Given the description of an element on the screen output the (x, y) to click on. 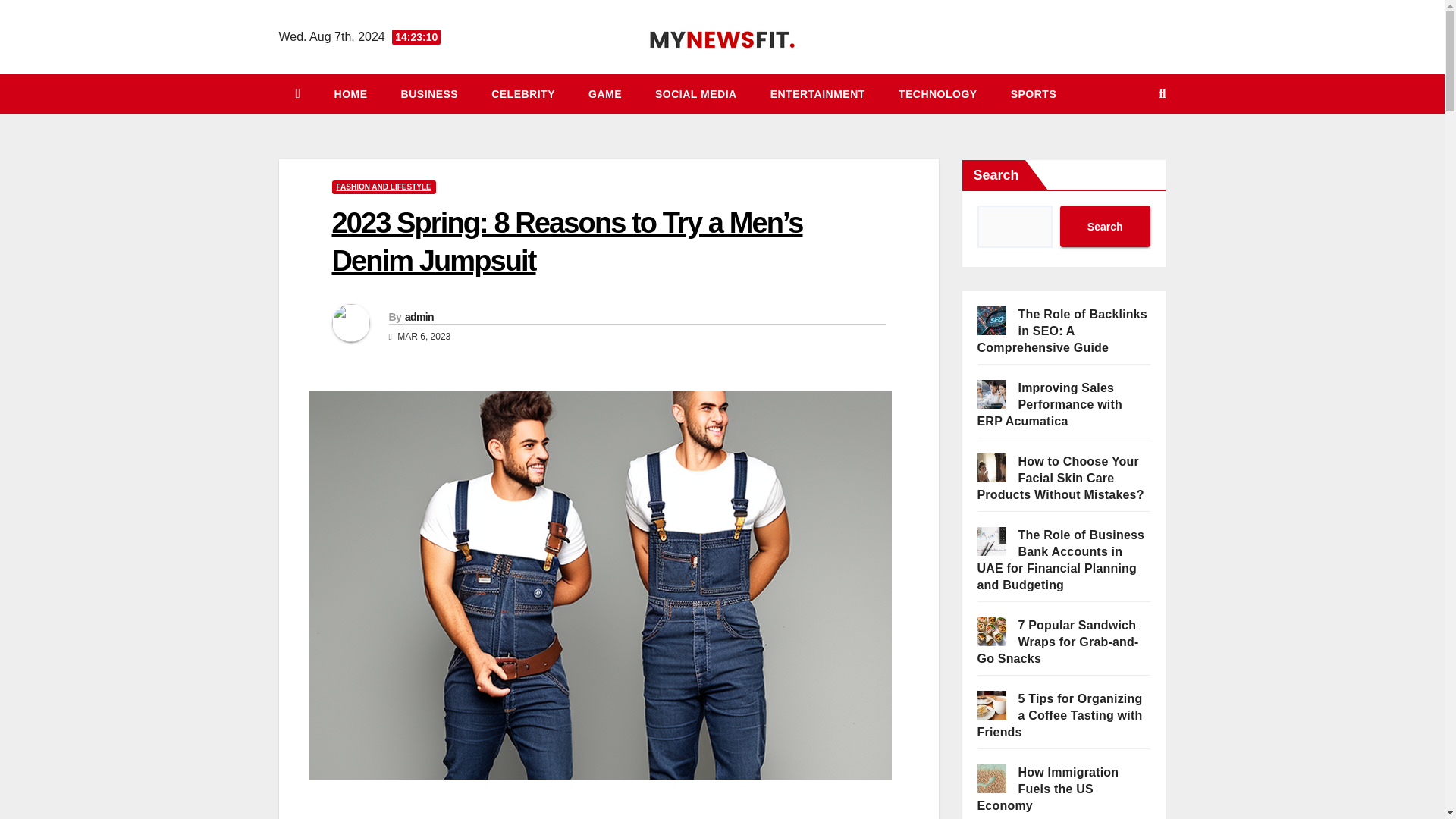
HOME (350, 93)
GAME (605, 93)
Home (350, 93)
FASHION AND LIFESTYLE (383, 187)
admin (418, 316)
SPORTS (1034, 93)
Social Media (696, 93)
TECHNOLOGY (938, 93)
Game (605, 93)
CELEBRITY (523, 93)
